Given the description of an element on the screen output the (x, y) to click on. 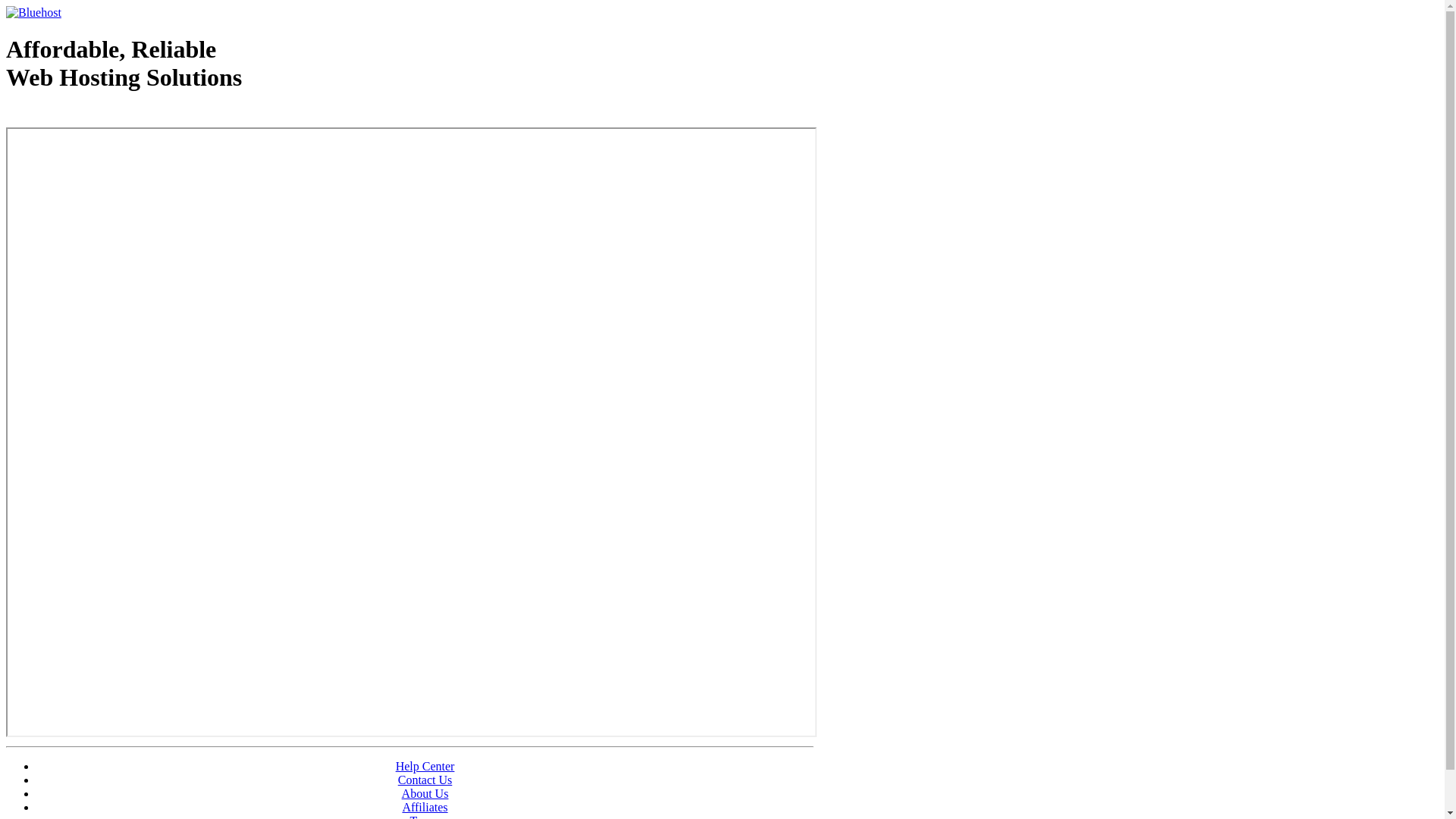
Web Hosting - courtesy of www.bluehost.com Element type: text (94, 115)
Affiliates Element type: text (424, 806)
Contact Us Element type: text (425, 779)
Help Center Element type: text (425, 765)
About Us Element type: text (424, 793)
